Given the description of an element on the screen output the (x, y) to click on. 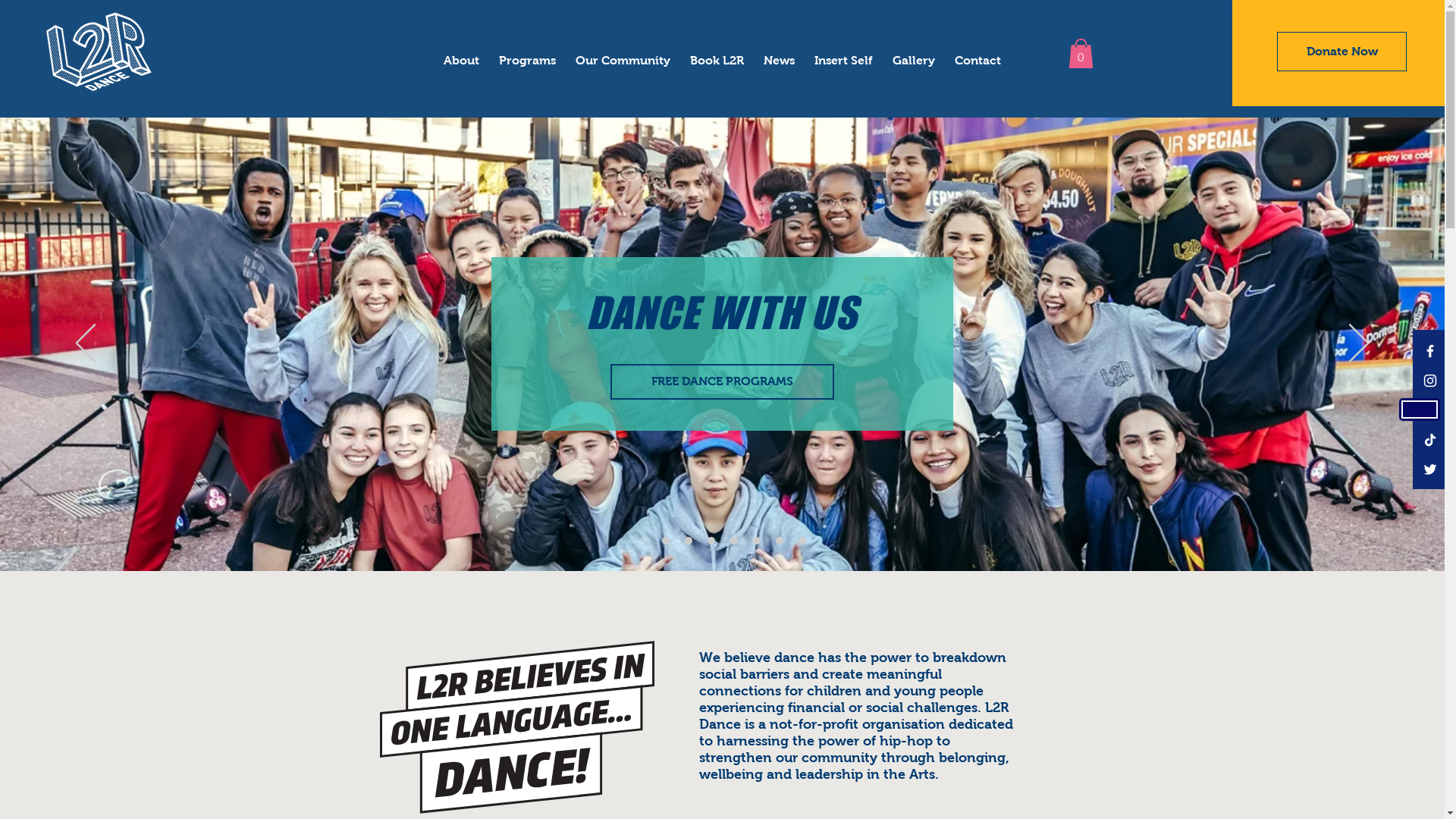
0 Element type: text (1079, 53)
FREE DANCE PROGRAMS Element type: text (721, 381)
Contact Element type: text (977, 53)
Insert Self Element type: text (843, 53)
Donate Now Element type: text (1341, 51)
News Element type: text (778, 53)
Book L2R Element type: text (716, 53)
